Given the description of an element on the screen output the (x, y) to click on. 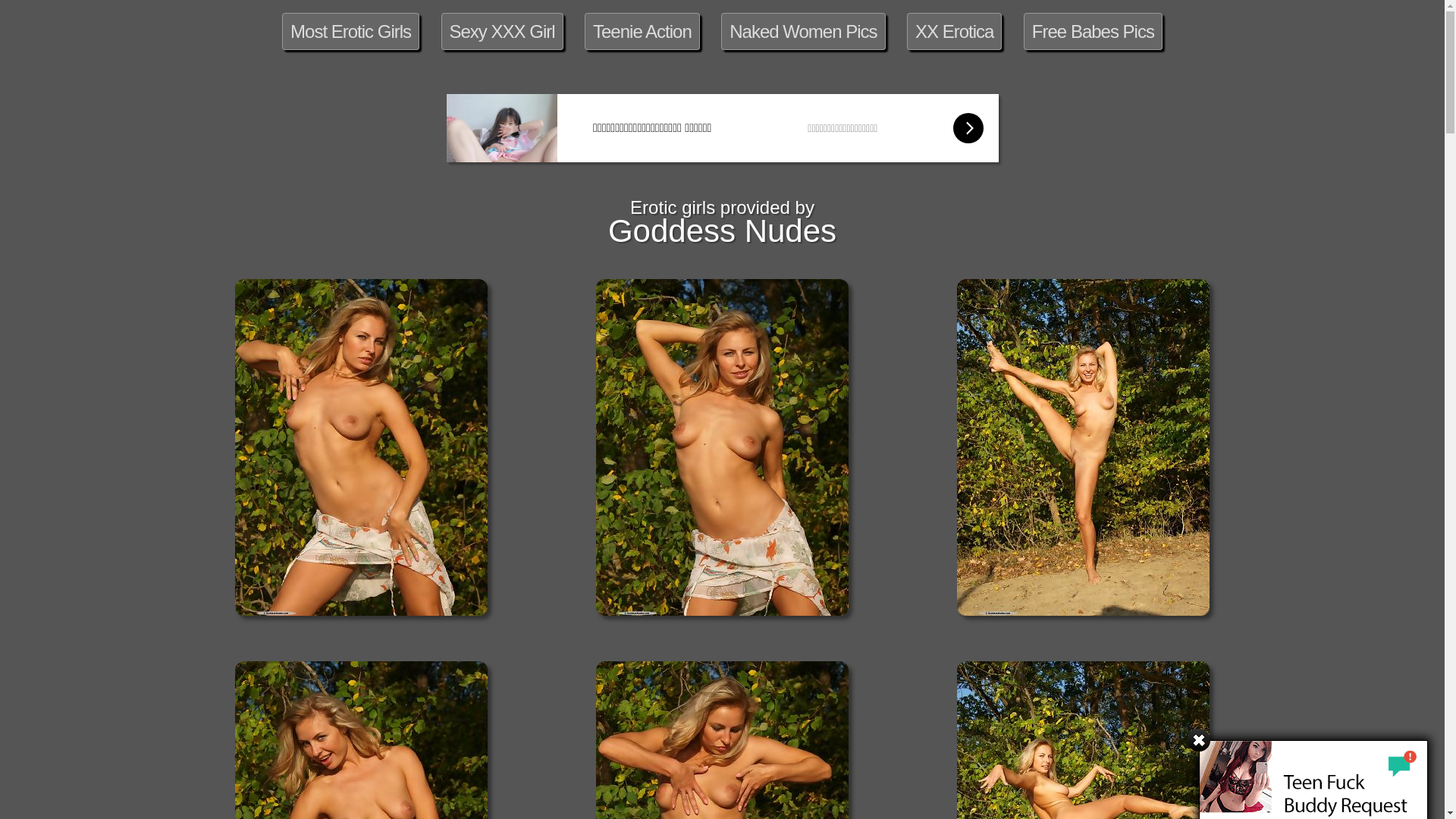
Sexy XXX Girl Element type: text (502, 31)
Free Babes Pics Element type: text (1092, 31)
Naked Women Pics Element type: text (802, 31)
# Element type: hover (1198, 743)
Most Erotic Girls Element type: text (350, 31)
Teenie Action Element type: text (641, 31)
XX Erotica Element type: text (953, 31)
